Given the description of an element on the screen output the (x, y) to click on. 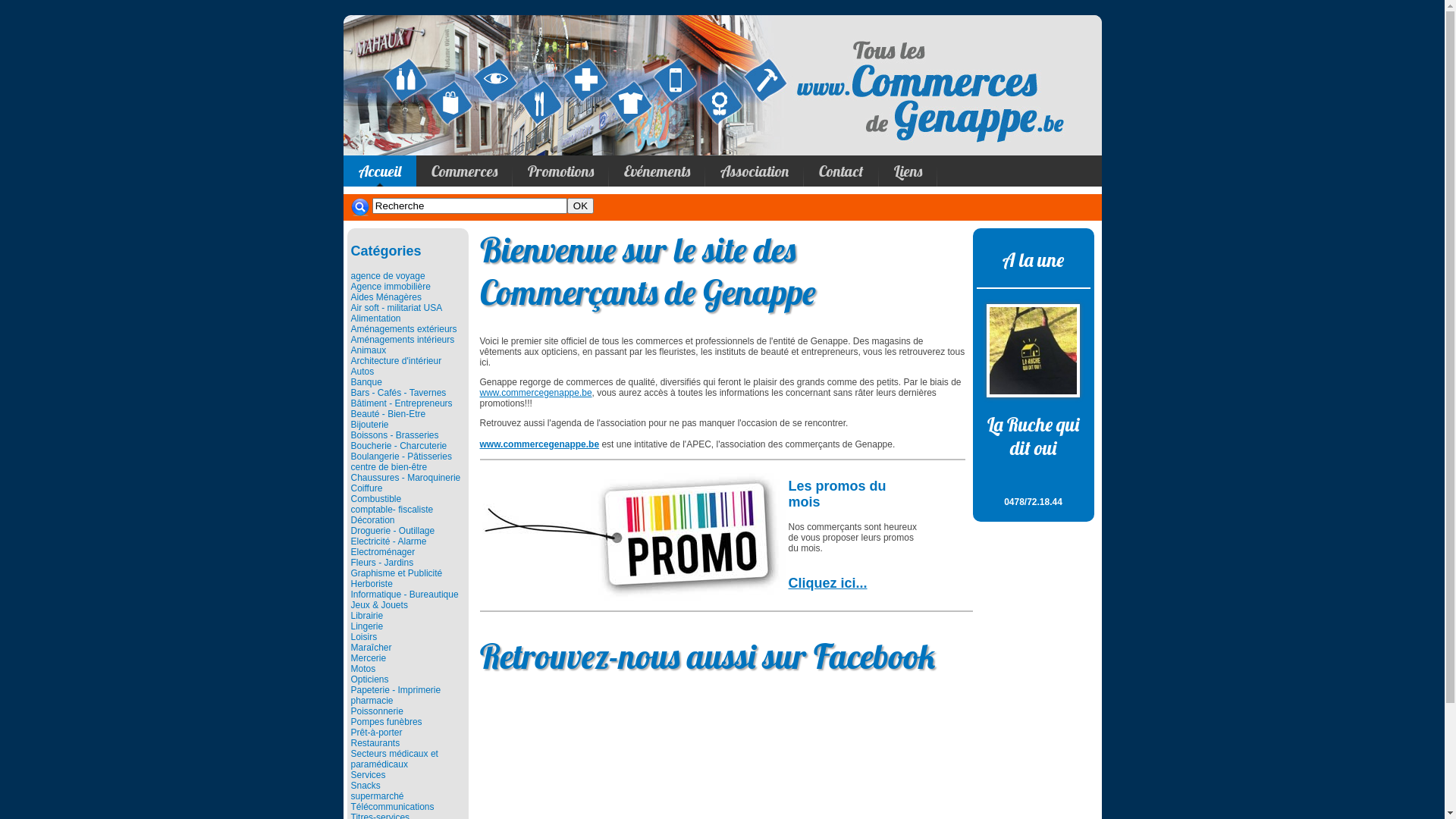
Poissonnerie Element type: text (376, 711)
Combustible Element type: text (375, 498)
Animaux Element type: text (367, 350)
Alimentation Element type: text (375, 318)
Snacks Element type: text (364, 785)
Papeterie - Imprimerie Element type: text (395, 689)
Promotions Element type: text (560, 170)
Commerces Element type: text (463, 170)
Restaurants Element type: text (374, 742)
Loisirs Element type: text (363, 636)
Association Element type: text (754, 170)
La Ruche qui dit oui


0478/72.18.44 Element type: text (1033, 452)
www.commercegenappe.be Element type: text (539, 444)
Fleurs - Jardins Element type: text (381, 562)
La Ruche qui dit oui Element type: hover (1032, 349)
Accueil Element type: text (378, 170)
Boucherie - Charcuterie Element type: text (398, 445)
OK Element type: text (580, 205)
Librairie Element type: text (366, 615)
Services Element type: text (367, 774)
Bijouterie Element type: text (369, 424)
agence de voyage Element type: text (387, 275)
Contact Element type: text (840, 170)
Opticiens Element type: text (369, 679)
Motos Element type: text (362, 668)
Autos Element type: text (361, 371)
Droguerie - Outillage Element type: text (392, 530)
Coiffure Element type: text (366, 488)
Herboriste Element type: text (371, 583)
Informatique - Bureautique Element type: text (404, 594)
www.commercegenappe.be Element type: text (535, 392)
Liens Element type: text (907, 170)
Mercerie Element type: text (367, 657)
Chaussures - Maroquinerie Element type: text (405, 477)
Lingerie Element type: text (366, 626)
Boissons - Brasseries Element type: text (394, 434)
Cliquez ici... Element type: text (827, 582)
Air soft - militariat USA Element type: text (396, 307)
Banque Element type: text (365, 381)
Jeux & Jouets Element type: text (378, 604)
comptable- fiscaliste Element type: text (391, 509)
pharmacie Element type: text (371, 700)
